Given the description of an element on the screen output the (x, y) to click on. 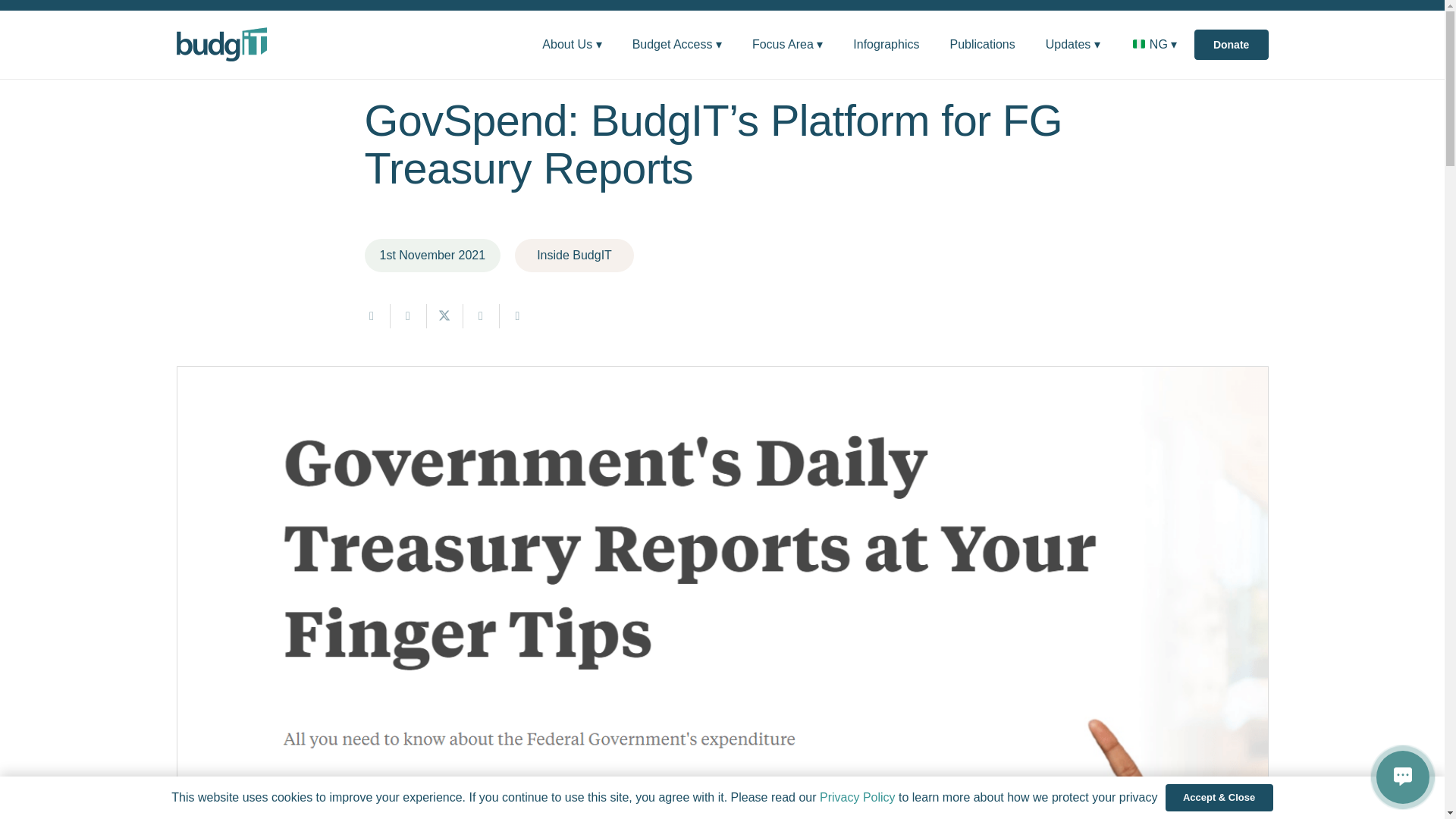
Email this (371, 315)
Infographics (886, 44)
Share this (517, 315)
Share this (408, 315)
Tweet this (444, 315)
Share this (481, 315)
Publications (981, 44)
